Given the description of an element on the screen output the (x, y) to click on. 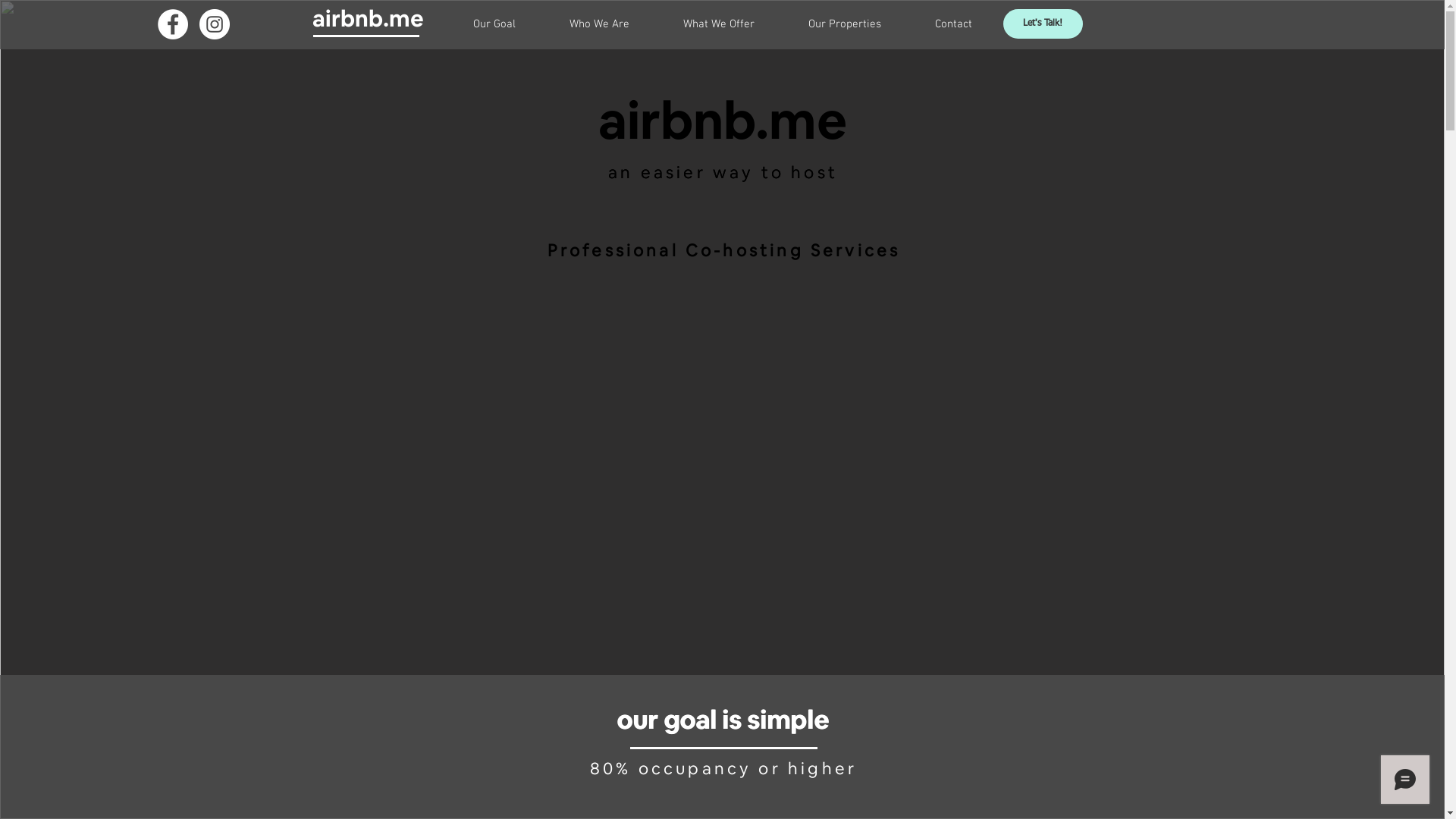
Contact Element type: text (953, 24)
Our Properties Element type: text (844, 24)
What We Offer Element type: text (718, 24)
Let's Talk! Element type: text (1042, 23)
Who We Are Element type: text (599, 24)
airbnb.me Element type: text (367, 18)
Our Goal Element type: text (493, 24)
airbnb.me Element type: text (721, 119)
